Given the description of an element on the screen output the (x, y) to click on. 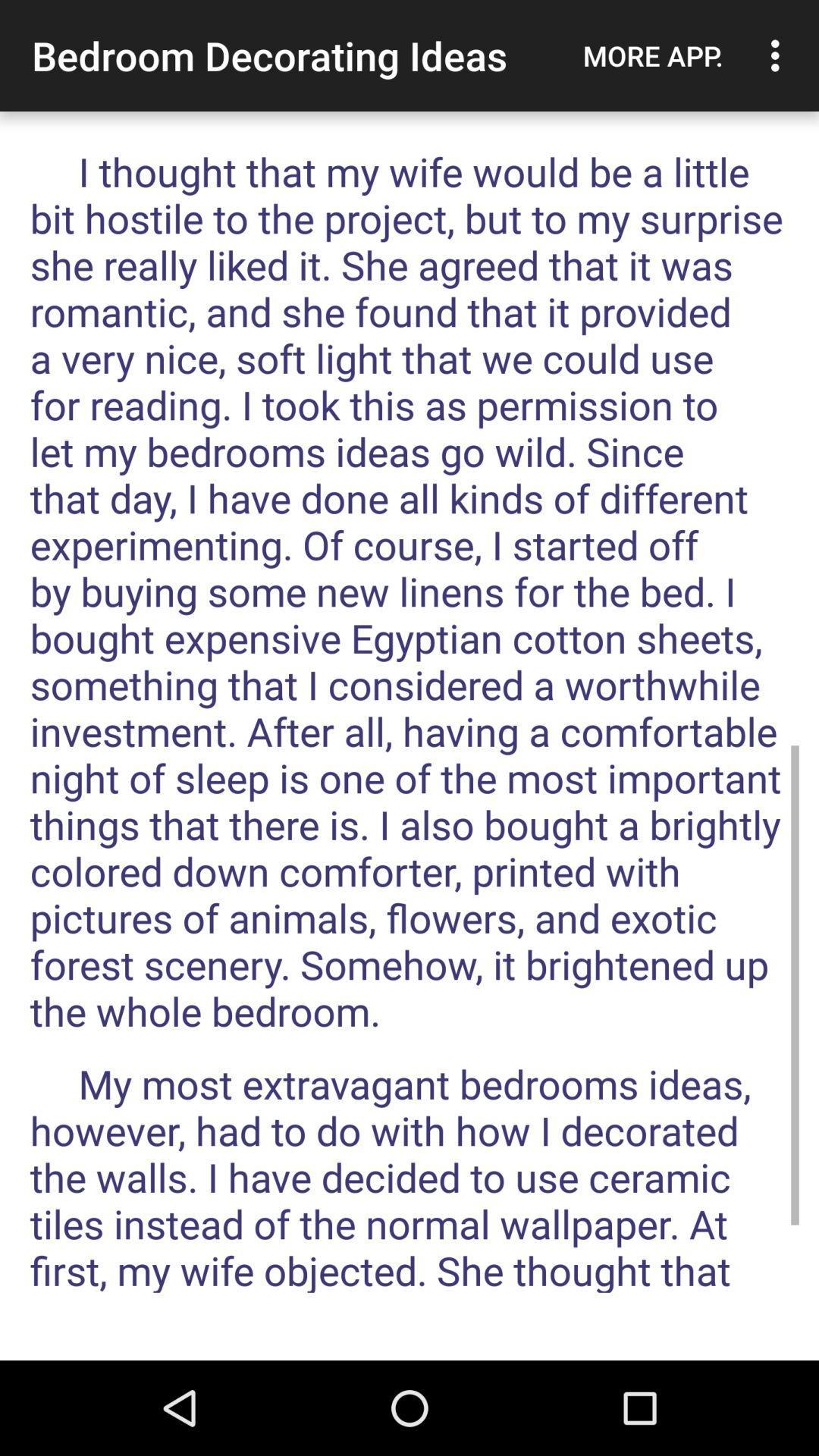
open icon next to bedroom decorating ideas (653, 55)
